Given the description of an element on the screen output the (x, y) to click on. 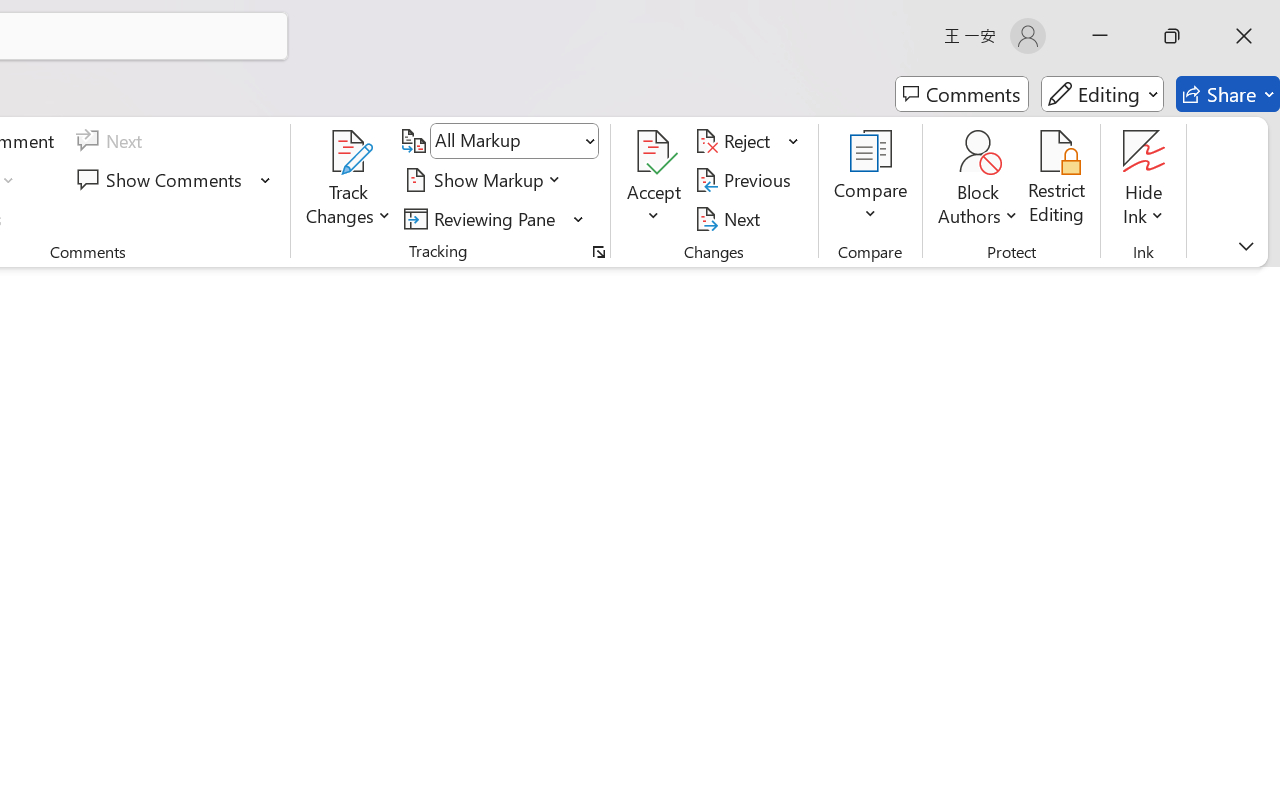
Compare (870, 179)
